Given the description of an element on the screen output the (x, y) to click on. 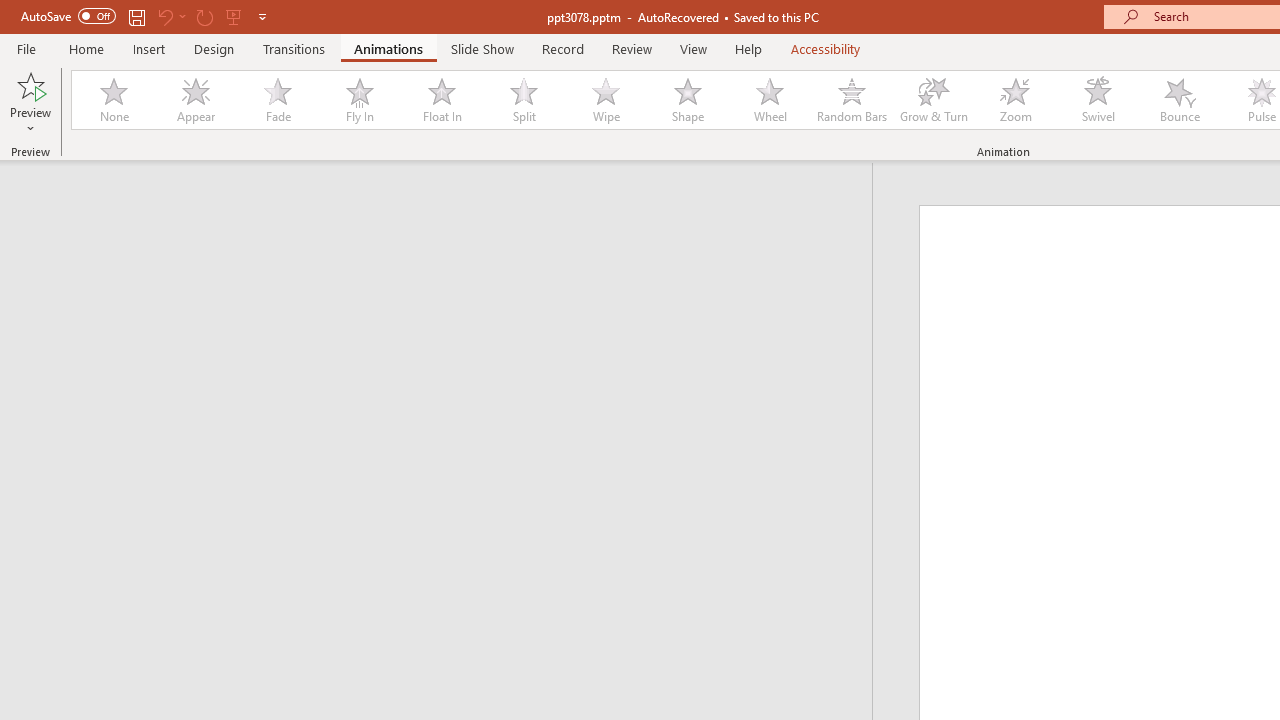
Swivel (1098, 100)
